Given the description of an element on the screen output the (x, y) to click on. 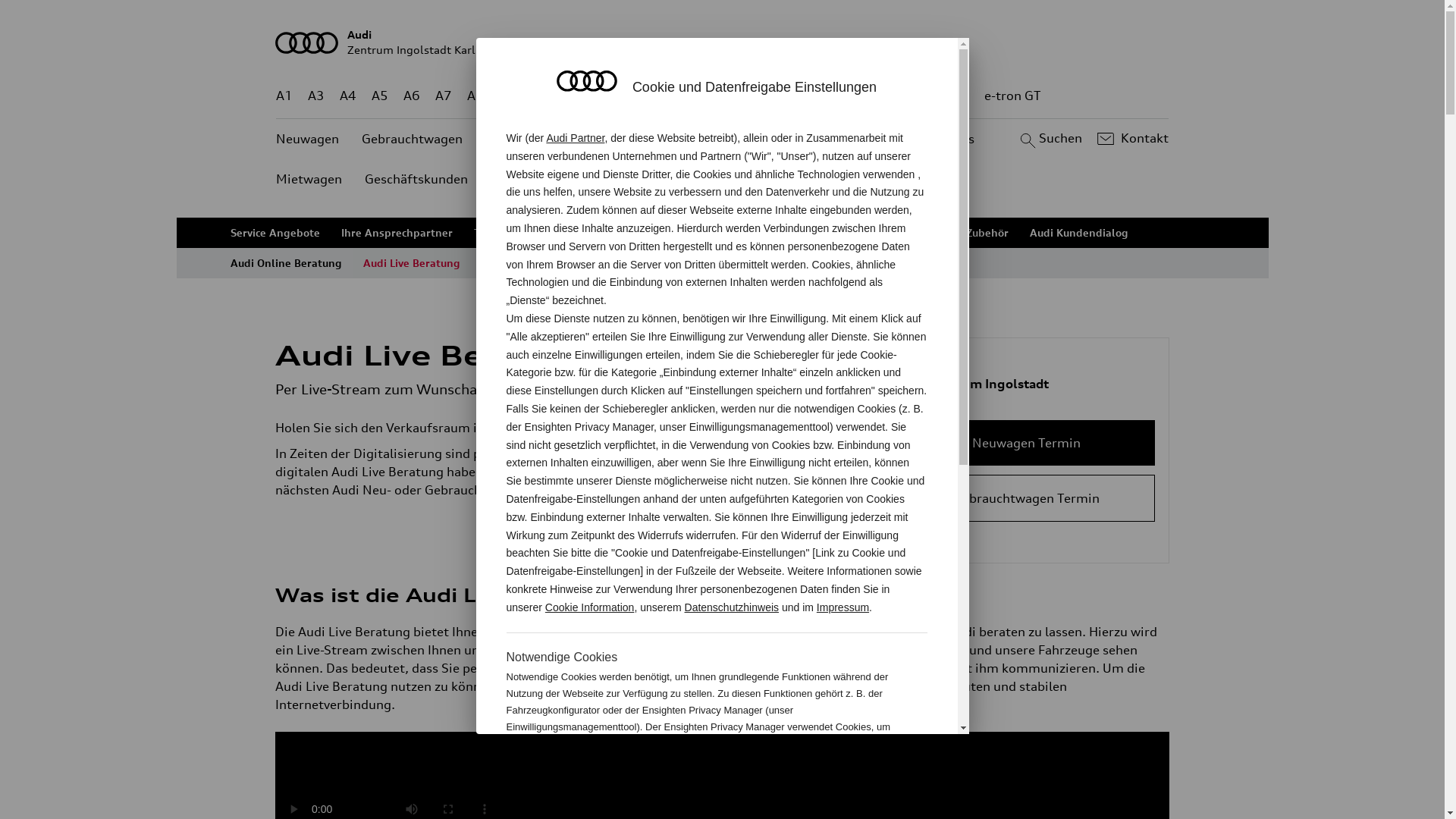
R8 Element type: text (861, 95)
Service Angebote Element type: text (274, 232)
Gebrauchtwagen Element type: text (411, 139)
Audi
Zentrum Ingolstadt Karl Brod GmbH Element type: text (722, 42)
Audi Kundendialog Element type: text (1079, 232)
Mietwagen Element type: text (309, 179)
Q4 e-tron Element type: text (592, 95)
Q7 Element type: text (678, 95)
A3 Element type: text (315, 95)
Gebrauchtwagen Termin Element type: text (1025, 497)
Cookie Information Element type: text (847, 776)
Datenschutzhinweis Element type: text (731, 607)
Q5 Element type: text (645, 95)
A5 Element type: text (379, 95)
Audi Live Beratung Element type: text (411, 262)
Q8 Element type: text (710, 95)
Q3 Element type: text (540, 95)
Kontakt Element type: text (1130, 138)
Neuwagen Element type: text (307, 139)
Karriere Element type: text (711, 139)
Kundenservice Element type: text (802, 139)
e-tron GT Element type: text (1012, 95)
Ihre Ansprechpartner Element type: text (396, 232)
A6 Element type: text (411, 95)
Audi Online Beratung Element type: text (285, 262)
RS Element type: text (908, 95)
TT Element type: text (814, 95)
Q8 e-tron Element type: text (763, 95)
Impressum Element type: text (842, 607)
A8 Element type: text (475, 95)
Audi Customer Private Lounge Element type: text (558, 262)
Angebote Element type: text (636, 139)
Neuwagen Termin Element type: text (1025, 442)
Cookie Information Element type: text (589, 607)
Leistungen und Services Element type: text (688, 232)
A7 Element type: text (443, 95)
myAudi Element type: text (677, 262)
Q2 Element type: text (507, 95)
A1 Element type: text (284, 95)
Reparatur und Wartung Element type: text (833, 232)
g-tron Element type: text (950, 95)
Audi Partner Element type: text (575, 137)
A4 Element type: text (347, 95)
Suchen Element type: text (1049, 138)
Shop Element type: text (883, 139)
